Given the description of an element on the screen output the (x, y) to click on. 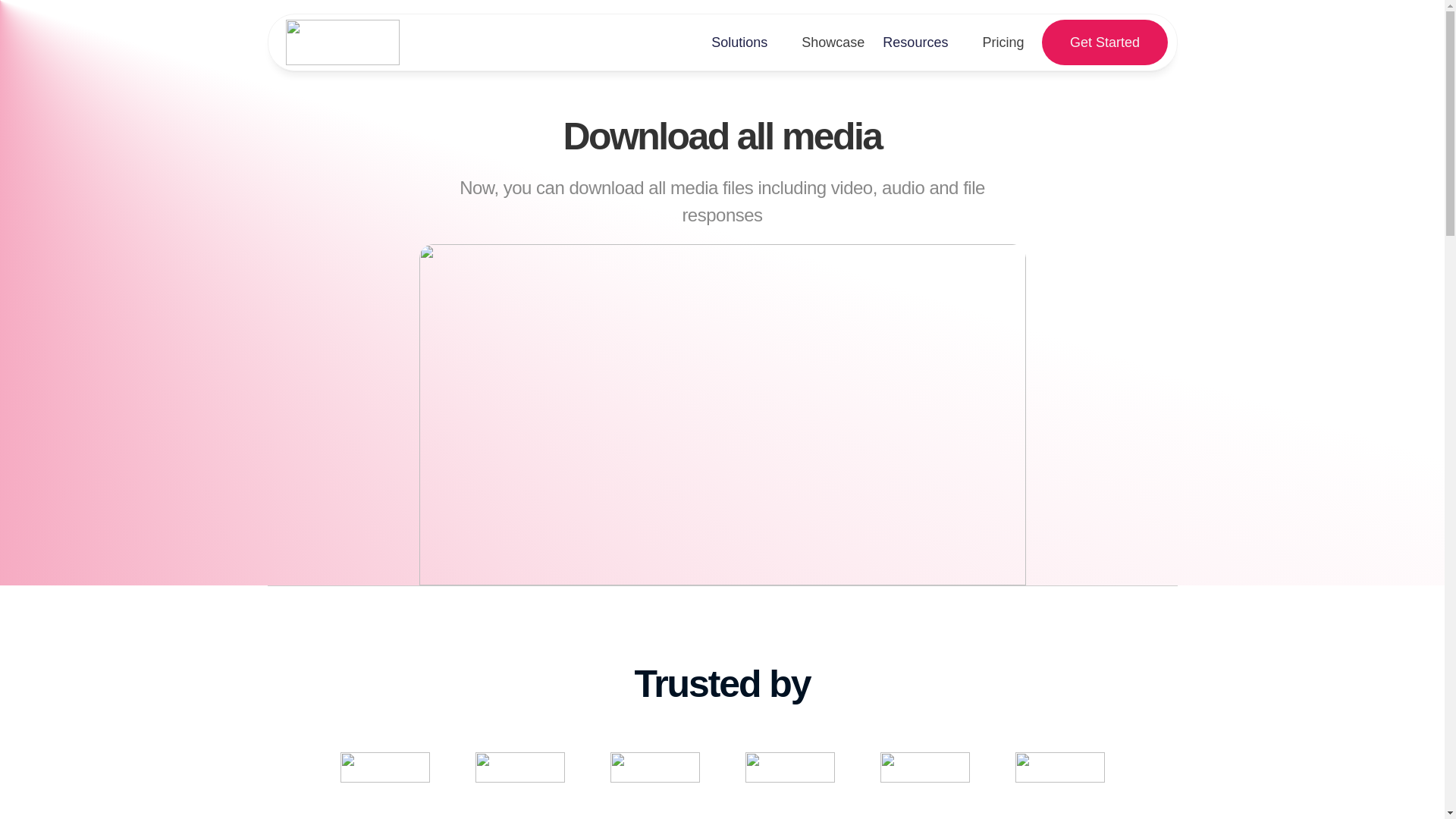
Pricing (1002, 42)
Get Started (1104, 42)
Showcase (833, 42)
